Given the description of an element on the screen output the (x, y) to click on. 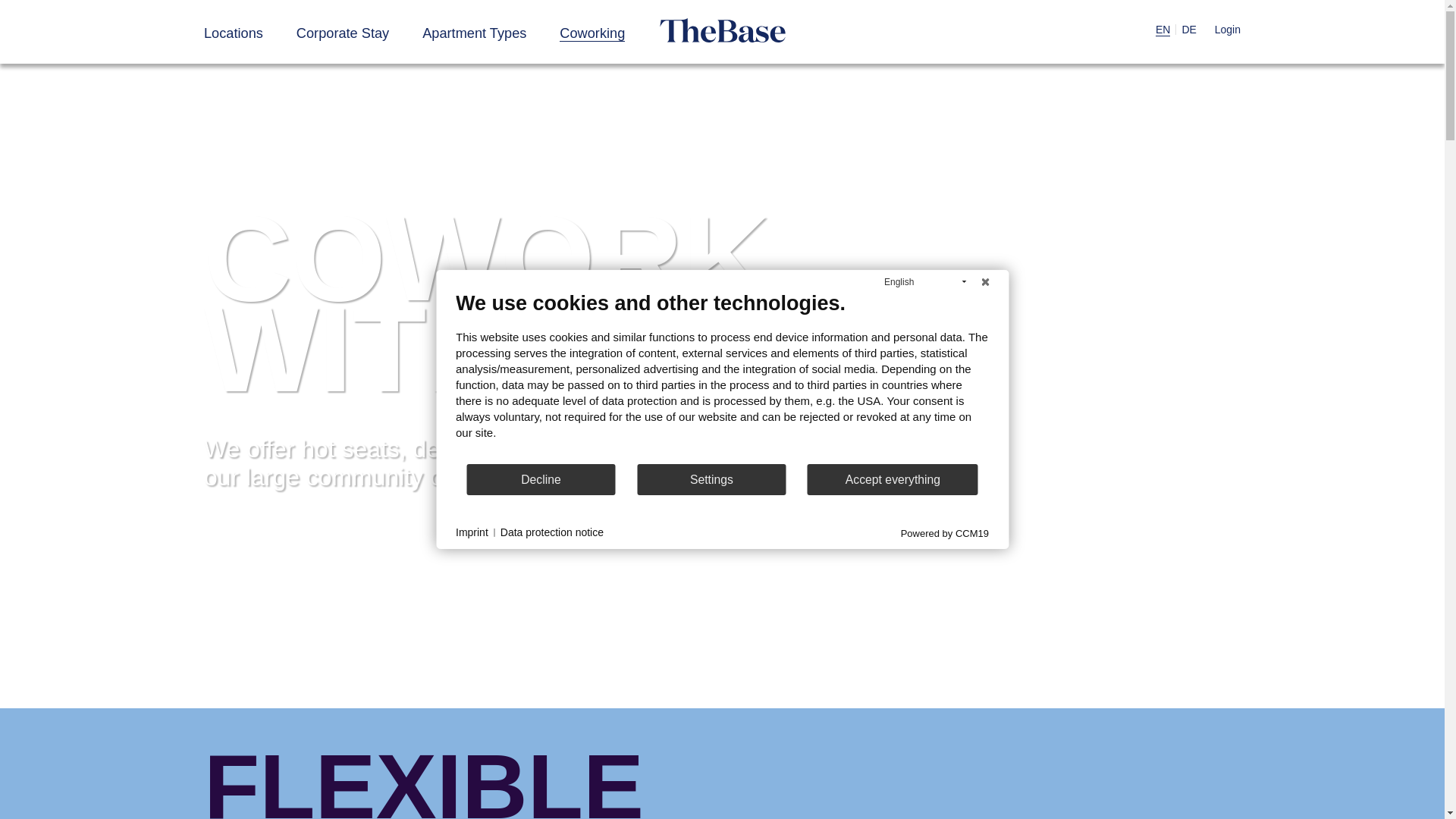
Powered by CCM19 (944, 532)
EN (1163, 29)
Login (1227, 28)
Apartment Types (473, 32)
Data protection notice (552, 532)
Accept everything (893, 479)
Corporate Stay (342, 32)
Settings (711, 479)
Decline (540, 479)
Locations (233, 32)
